Given the description of an element on the screen output the (x, y) to click on. 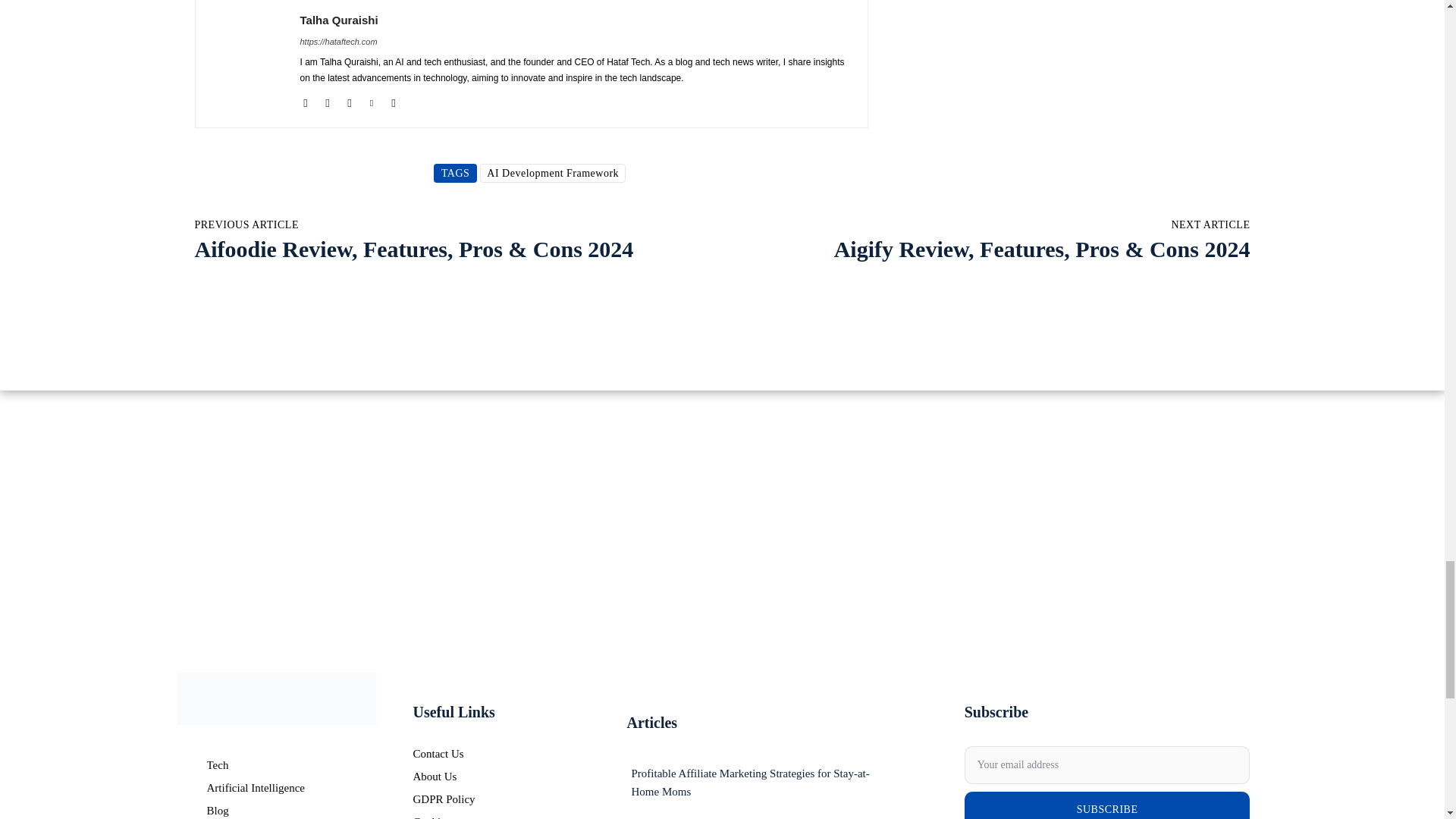
GitHub (305, 100)
RSS (349, 100)
Talha Quraishi (575, 19)
Medium (327, 100)
Twitter (371, 100)
AI Development Framework (553, 172)
